Given the description of an element on the screen output the (x, y) to click on. 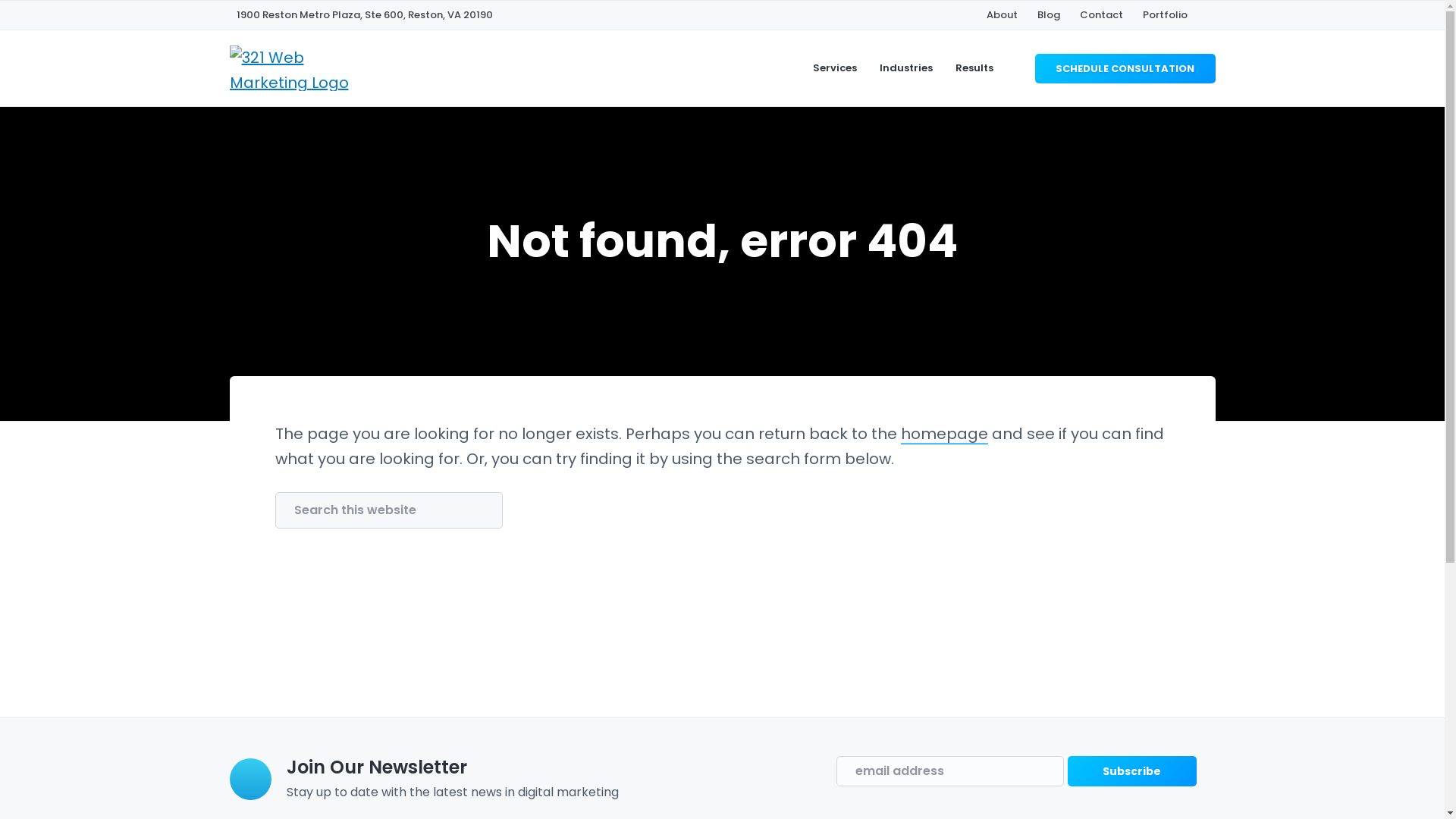
Industries Element type: text (905, 67)
Search Element type: text (63, 18)
Portfolio Element type: text (1164, 14)
Blog Element type: text (1048, 14)
SCHEDULE CONSULTATION Element type: text (1125, 67)
homepage Element type: text (944, 433)
1900 Reston Metro Plaza, Ste 600, Reston, VA 20190 Element type: text (364, 14)
Skip to primary navigation Element type: text (0, 0)
Results Element type: text (974, 67)
About Element type: text (1000, 14)
Subscribe Element type: text (1131, 771)
321 Web Marketing Element type: text (236, 192)
Contact Element type: text (1101, 14)
Services Element type: text (834, 67)
